Given the description of an element on the screen output the (x, y) to click on. 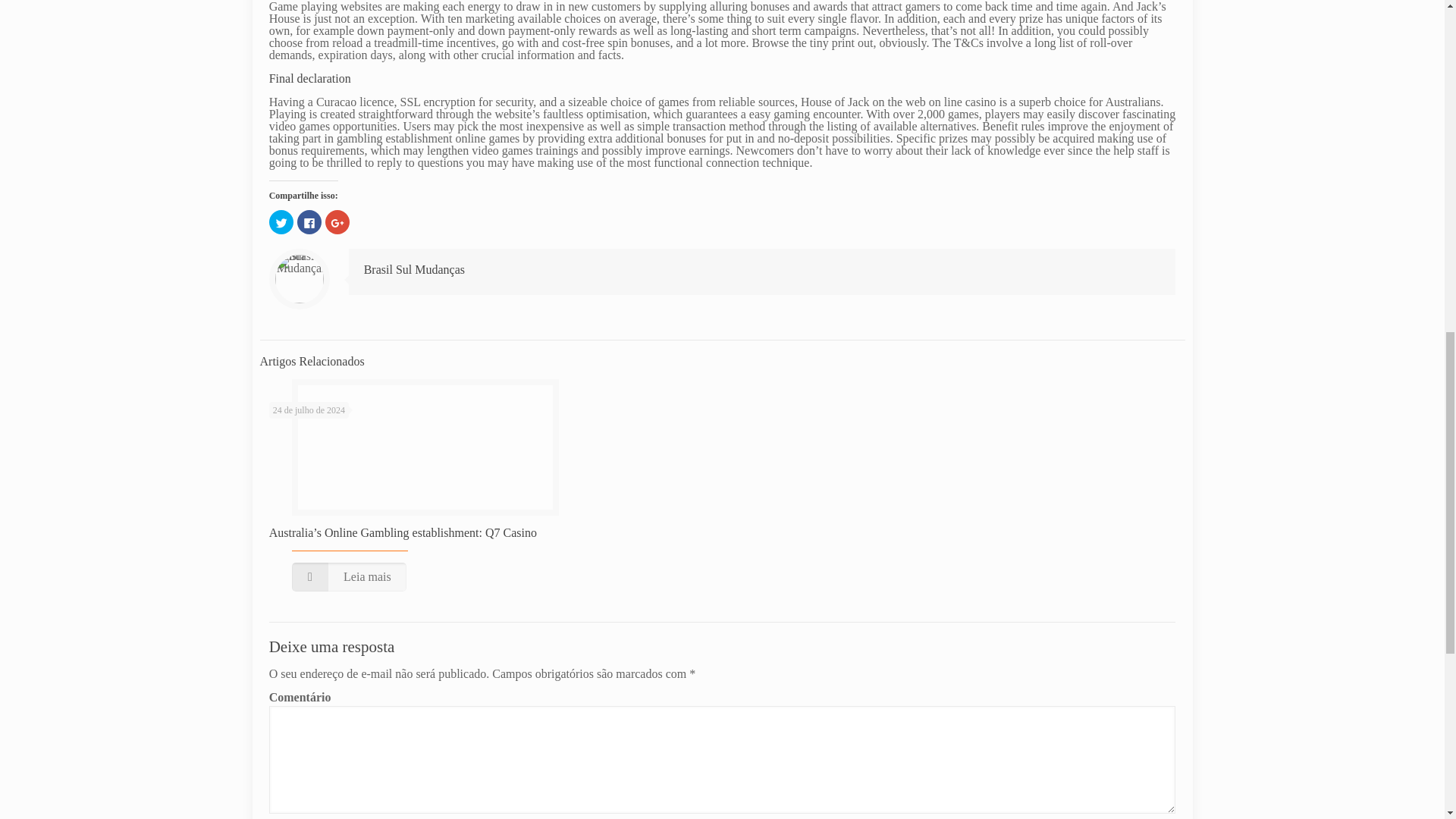
Leia mais (349, 576)
Clique para compartilhar no Twitter (281, 221)
Clique para compartilhar no Facebook (309, 221)
